Given the description of an element on the screen output the (x, y) to click on. 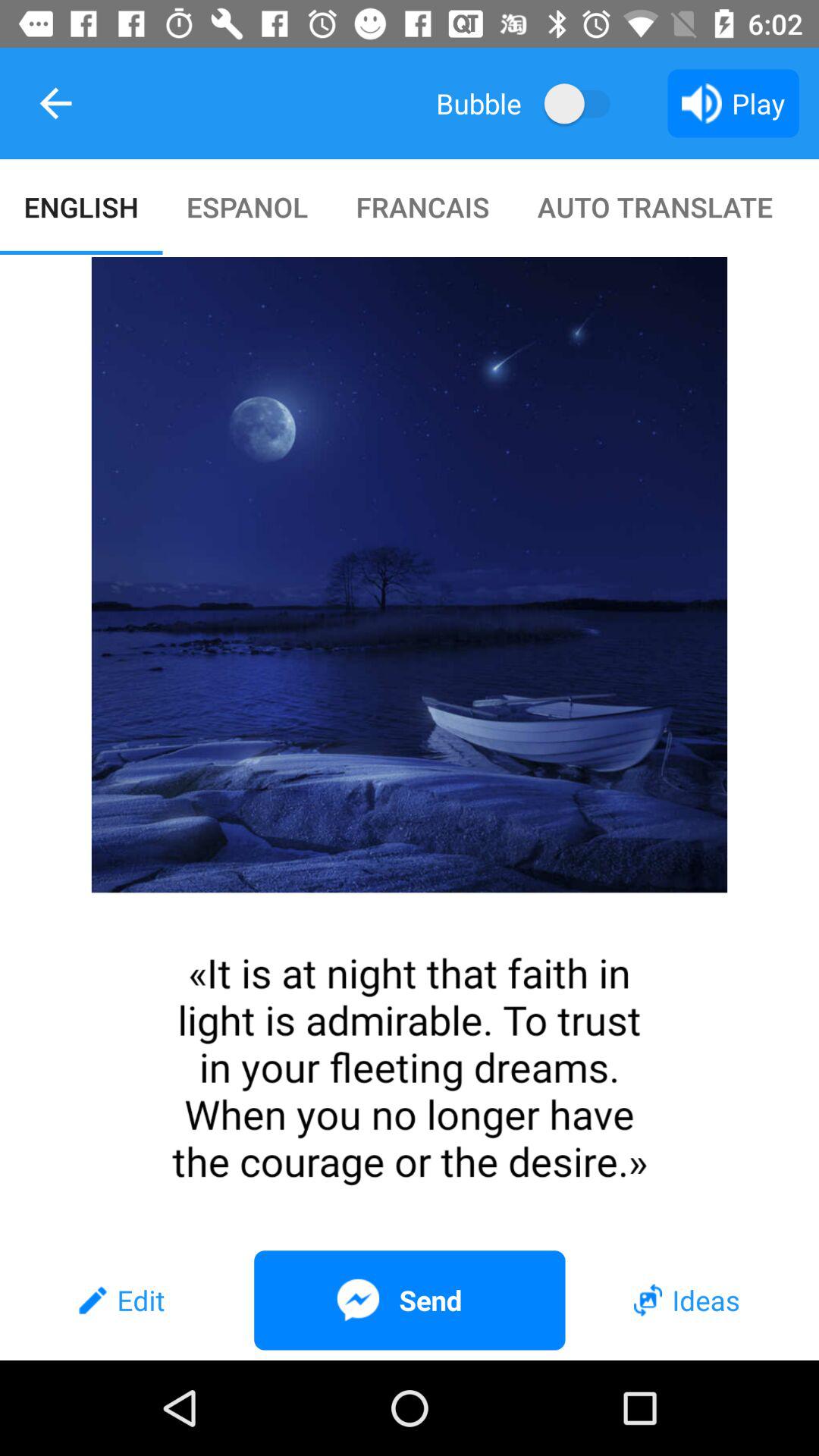
tap icon above edit item (409, 748)
